Given the description of an element on the screen output the (x, y) to click on. 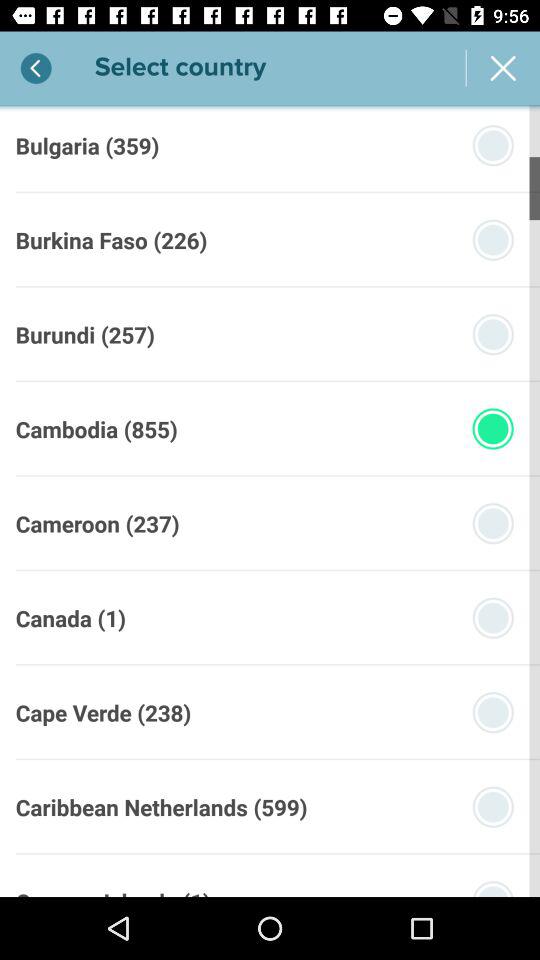
tap the cambodia (855) icon (96, 429)
